Given the description of an element on the screen output the (x, y) to click on. 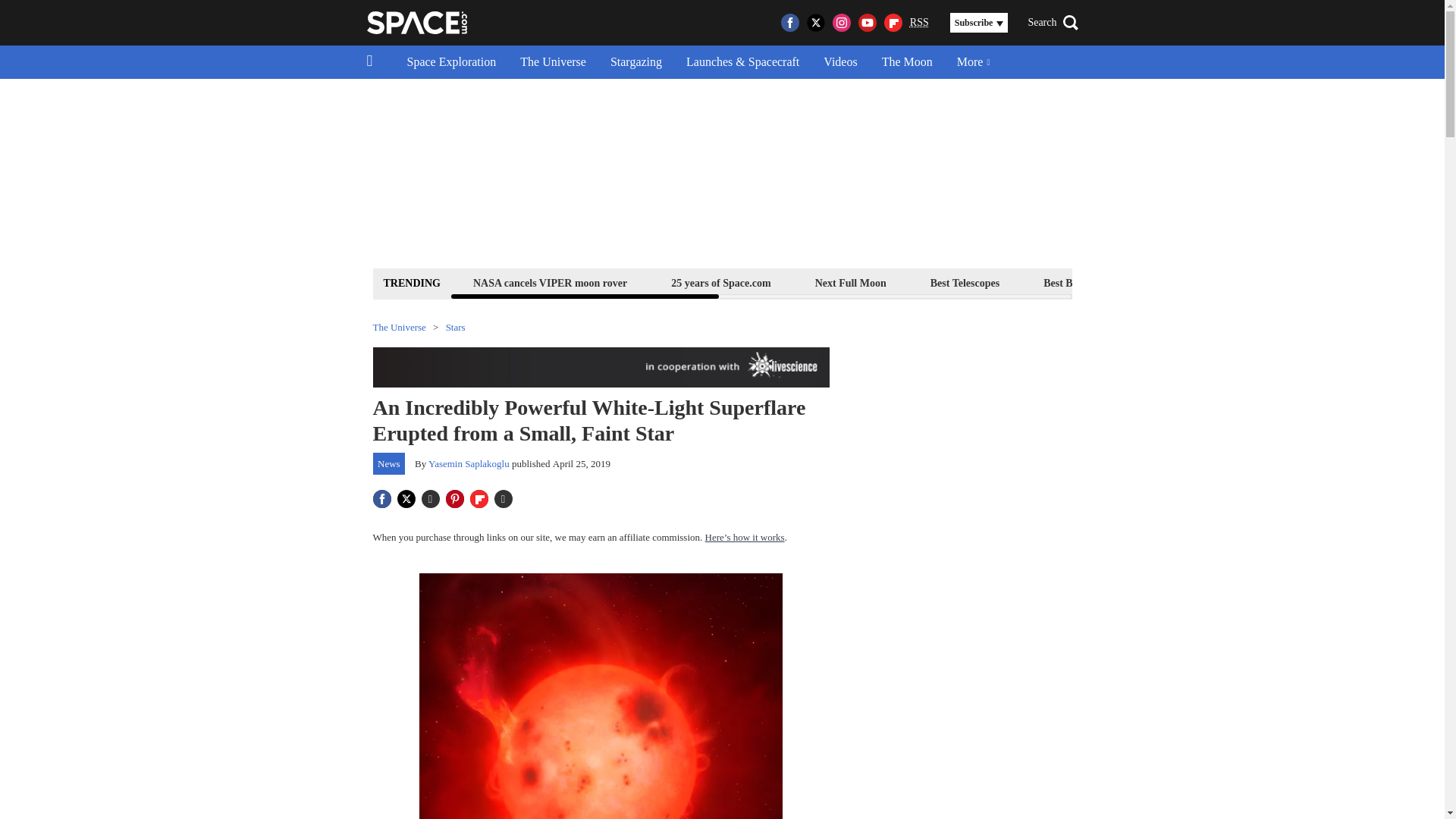
Stargazing (636, 61)
Really Simple Syndication (919, 21)
The Moon (906, 61)
Best Star Projectors (1204, 282)
RSS (919, 22)
Space Calendar (1329, 282)
NASA cancels VIPER moon rover (549, 282)
25 years of Space.com (720, 282)
Best Binoculars (1078, 282)
Space Exploration (451, 61)
Videos (839, 61)
The Universe (553, 61)
Next Full Moon (850, 282)
Best Telescopes (964, 282)
